Given the description of an element on the screen output the (x, y) to click on. 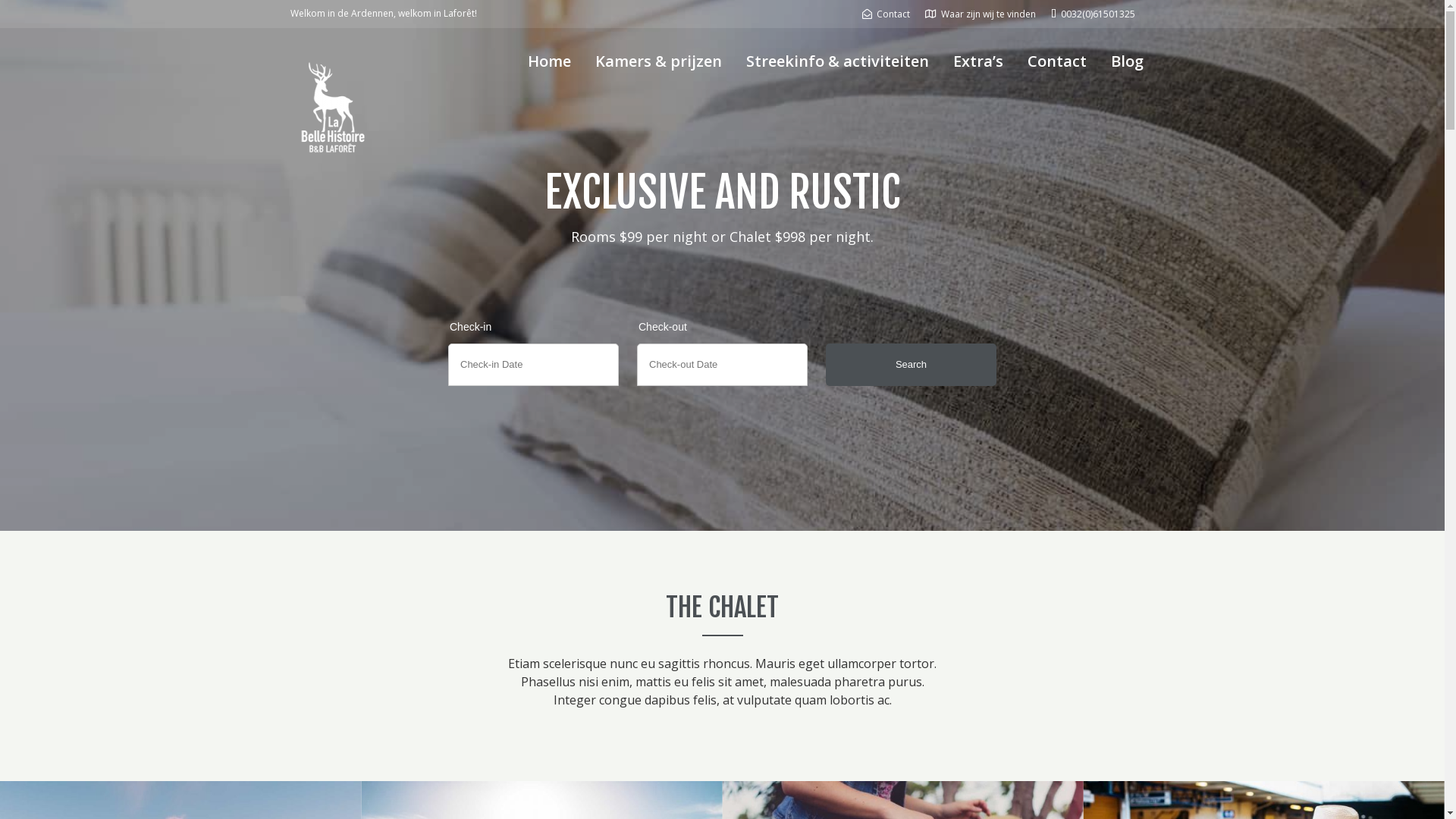
Blog Element type: text (1126, 61)
Streekinfo & activiteiten Element type: text (837, 61)
Home Element type: text (549, 61)
Contact Element type: text (1055, 61)
Search Element type: text (910, 364)
Kamers & prijzen Element type: text (657, 61)
Contact Element type: text (885, 13)
Waar zijn wij te vinden Element type: text (980, 13)
0032(0)61501325 Element type: text (1093, 13)
